Given the description of an element on the screen output the (x, y) to click on. 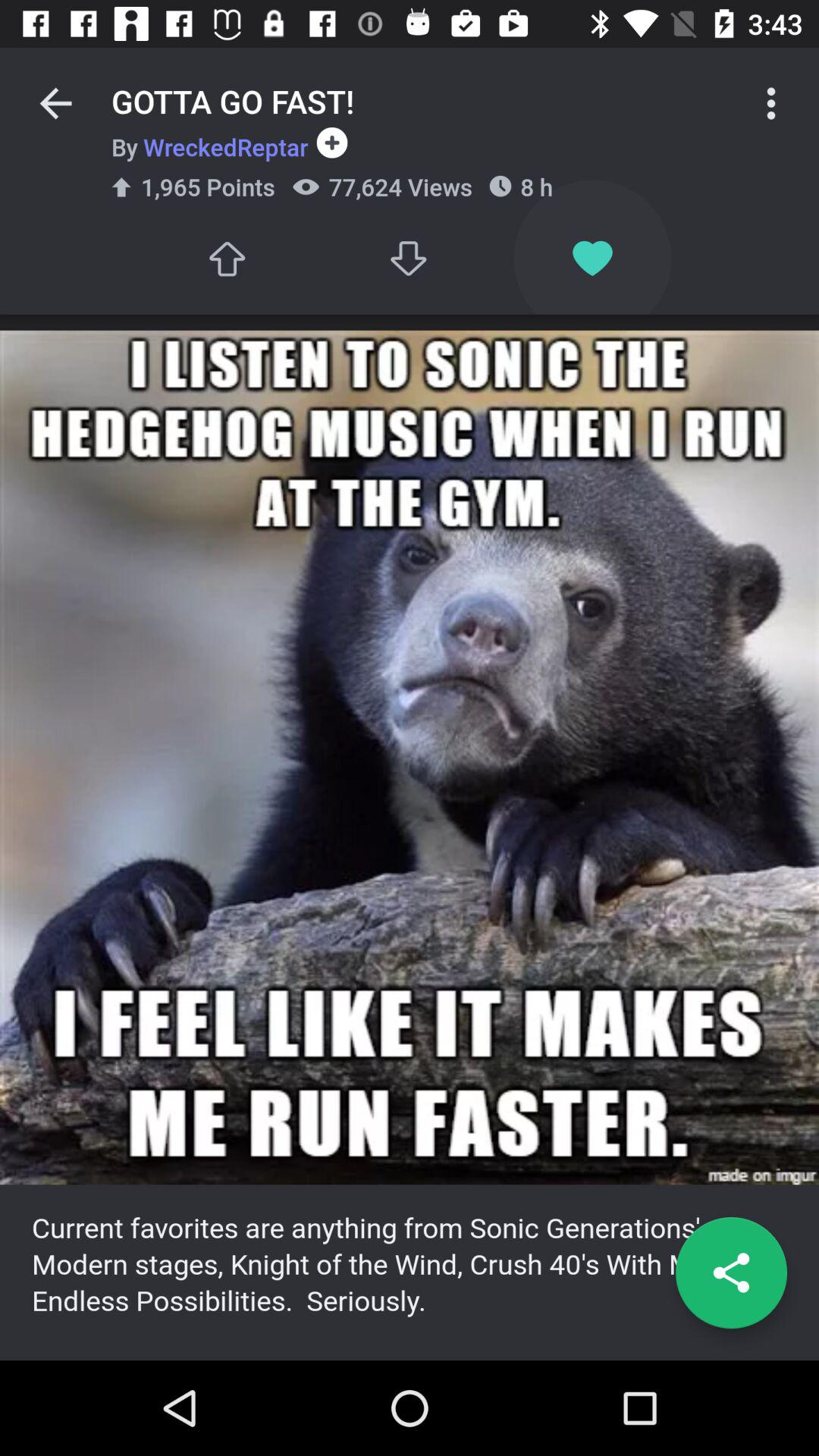
click item to the left of 77,624 views icon (226, 258)
